Given the description of an element on the screen output the (x, y) to click on. 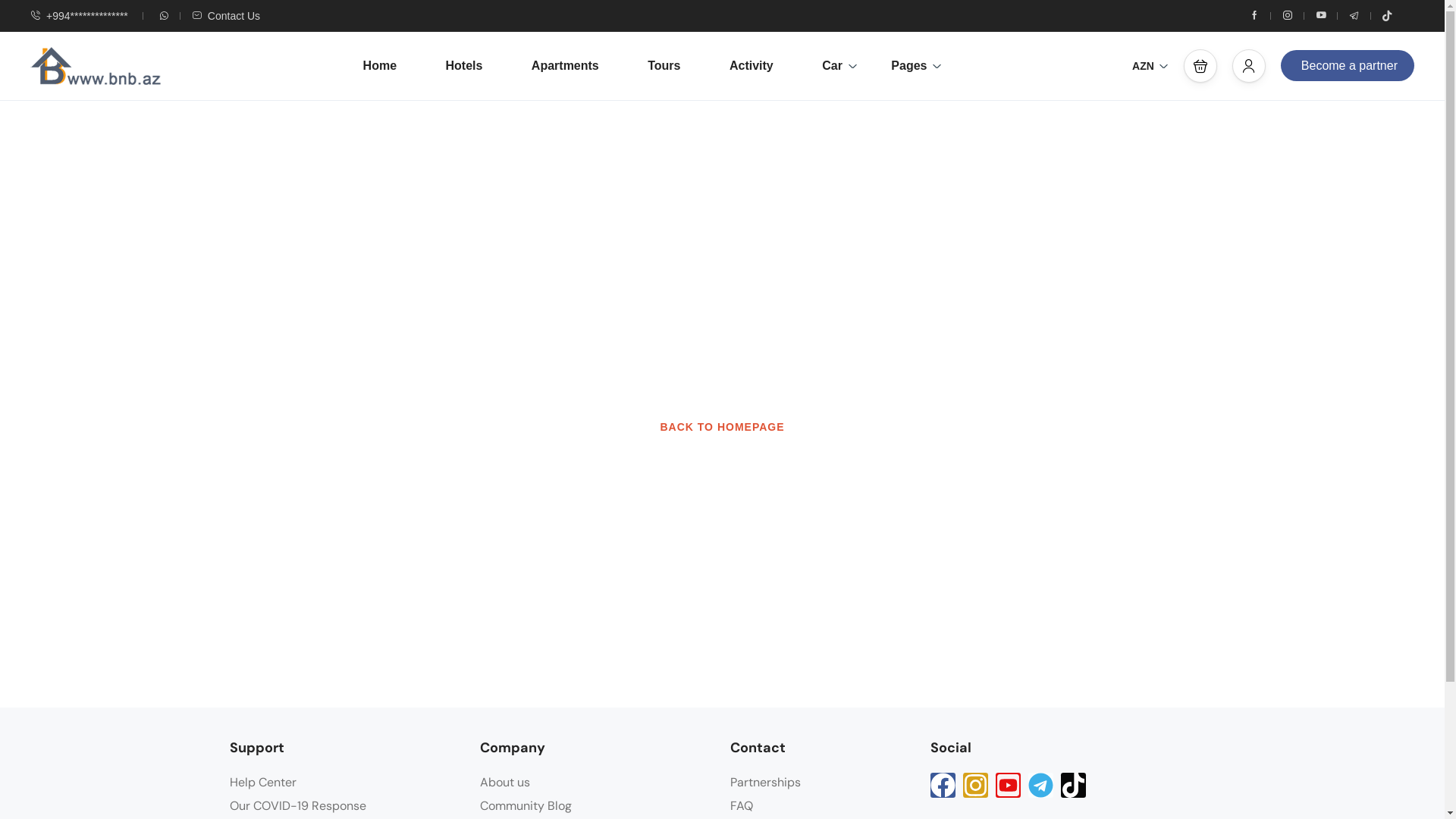
Community Blog Element type: text (525, 805)
Tours Element type: text (663, 65)
Our COVID-19 Response Element type: text (297, 805)
BACK TO HOMEPAGE Element type: text (721, 426)
Partnerships Element type: text (764, 782)
Apartments Element type: text (564, 65)
Help Center Element type: text (262, 782)
FAQ Element type: text (740, 805)
Activity Element type: text (751, 65)
Contact Us Element type: text (225, 15)
Pages Element type: text (908, 65)
Home Element type: text (379, 65)
Become a partner Element type: text (1347, 65)
Car Element type: text (832, 65)
AZN Element type: text (1150, 65)
Hotels Element type: text (463, 65)
+994************** Element type: text (79, 15)
